Given the description of an element on the screen output the (x, y) to click on. 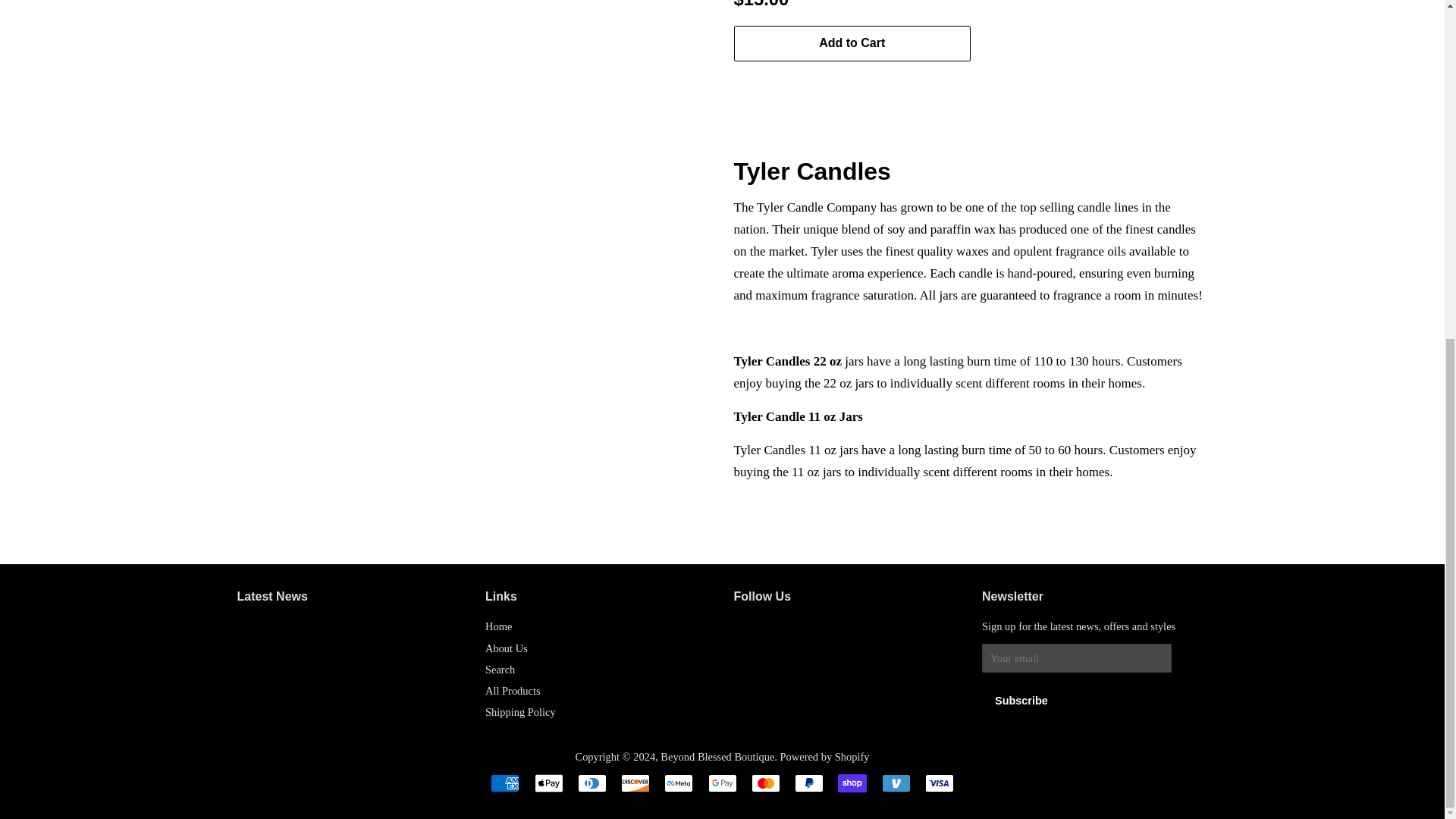
Apple Pay (548, 782)
American Express (504, 782)
Diners Club (592, 782)
Mastercard (765, 782)
PayPal (809, 782)
Venmo (895, 782)
Meta Pay (678, 782)
Google Pay (721, 782)
Shop Pay (852, 782)
Visa (938, 782)
Subscribe (1021, 700)
Discover (635, 782)
